Given the description of an element on the screen output the (x, y) to click on. 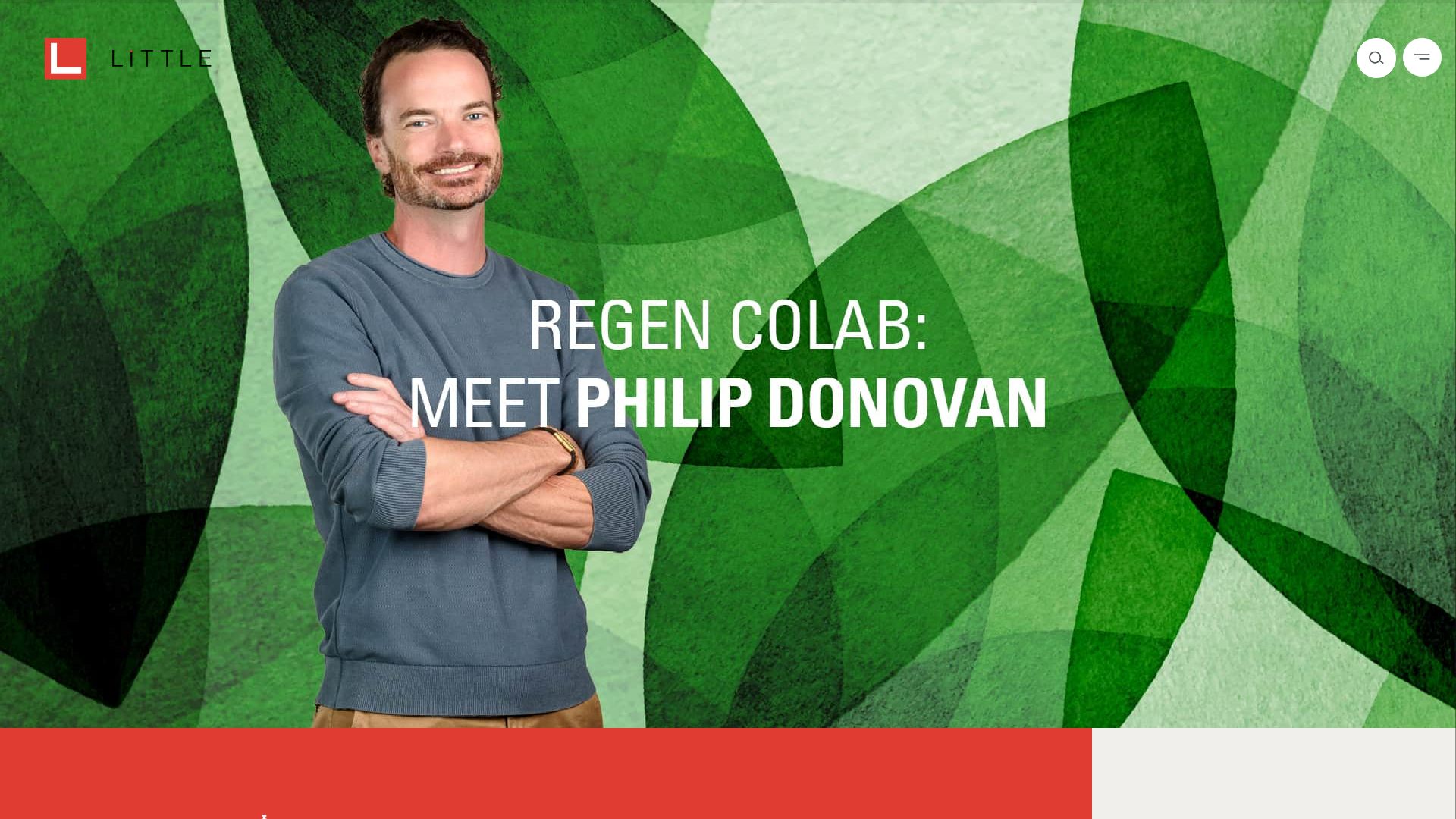
Little (128, 61)
Little (128, 61)
Search (1376, 56)
